Given the description of an element on the screen output the (x, y) to click on. 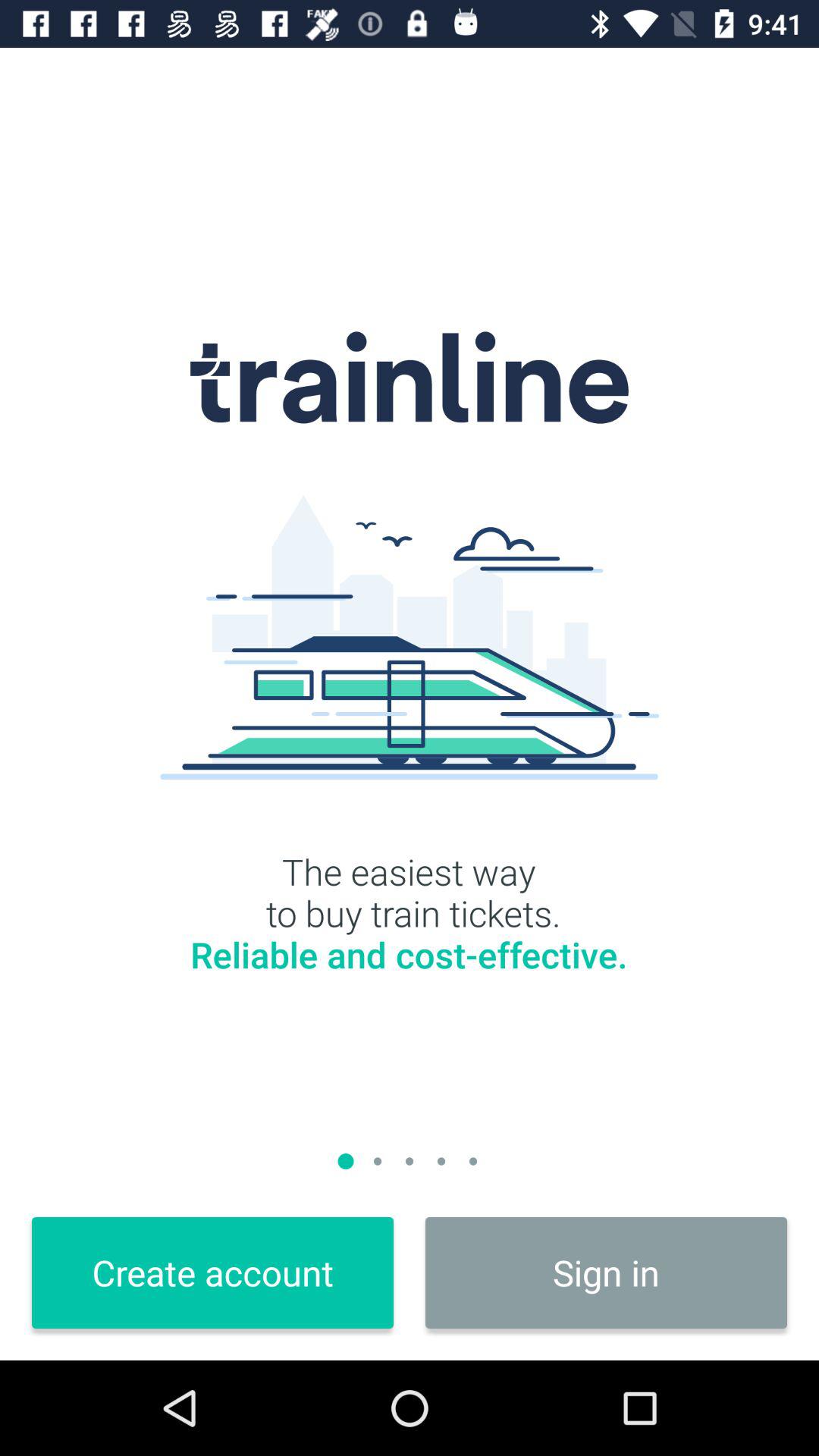
jump until create account item (212, 1272)
